Given the description of an element on the screen output the (x, y) to click on. 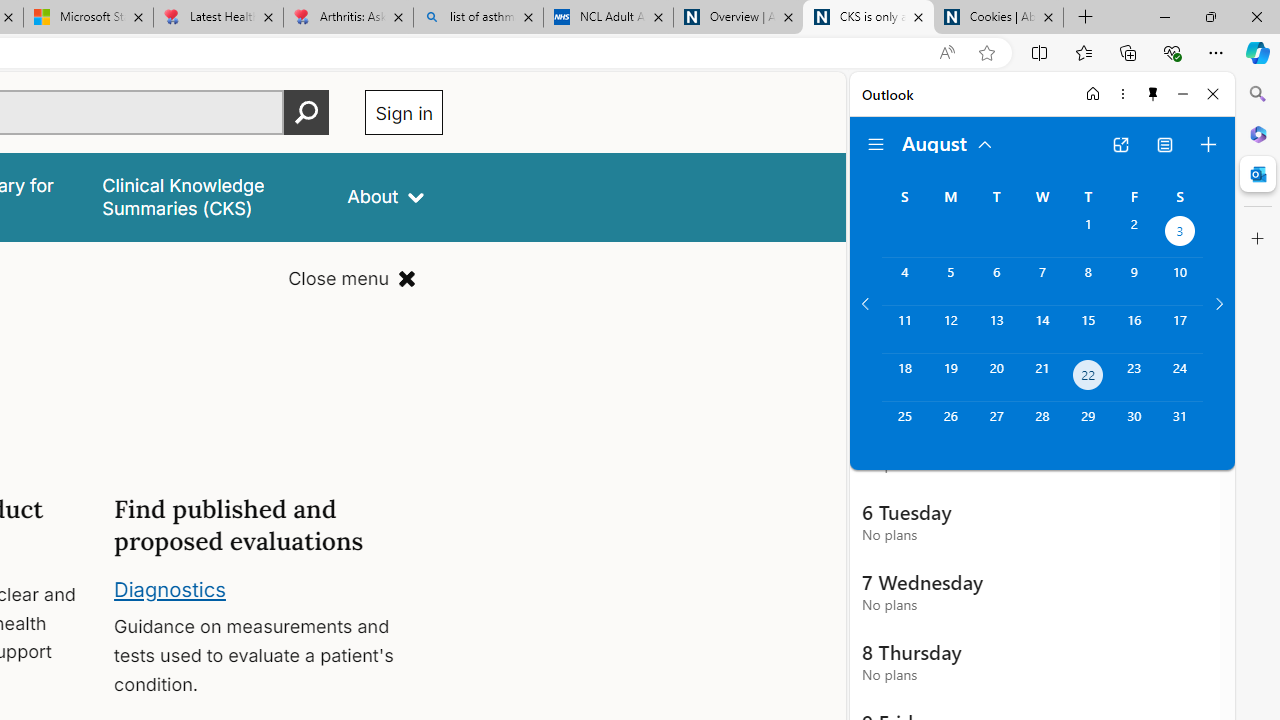
About (386, 196)
Folder navigation (876, 144)
Monday, August 12, 2024.  (950, 329)
CKS is only available in the UK | NICE (868, 17)
Home (1093, 93)
Friday, August 30, 2024.  (1134, 425)
false (207, 196)
Tuesday, August 13, 2024.  (996, 329)
list of asthma inhalers uk - Search (477, 17)
Monday, August 5, 2024.  (950, 281)
Diagnostics (169, 588)
